Given the description of an element on the screen output the (x, y) to click on. 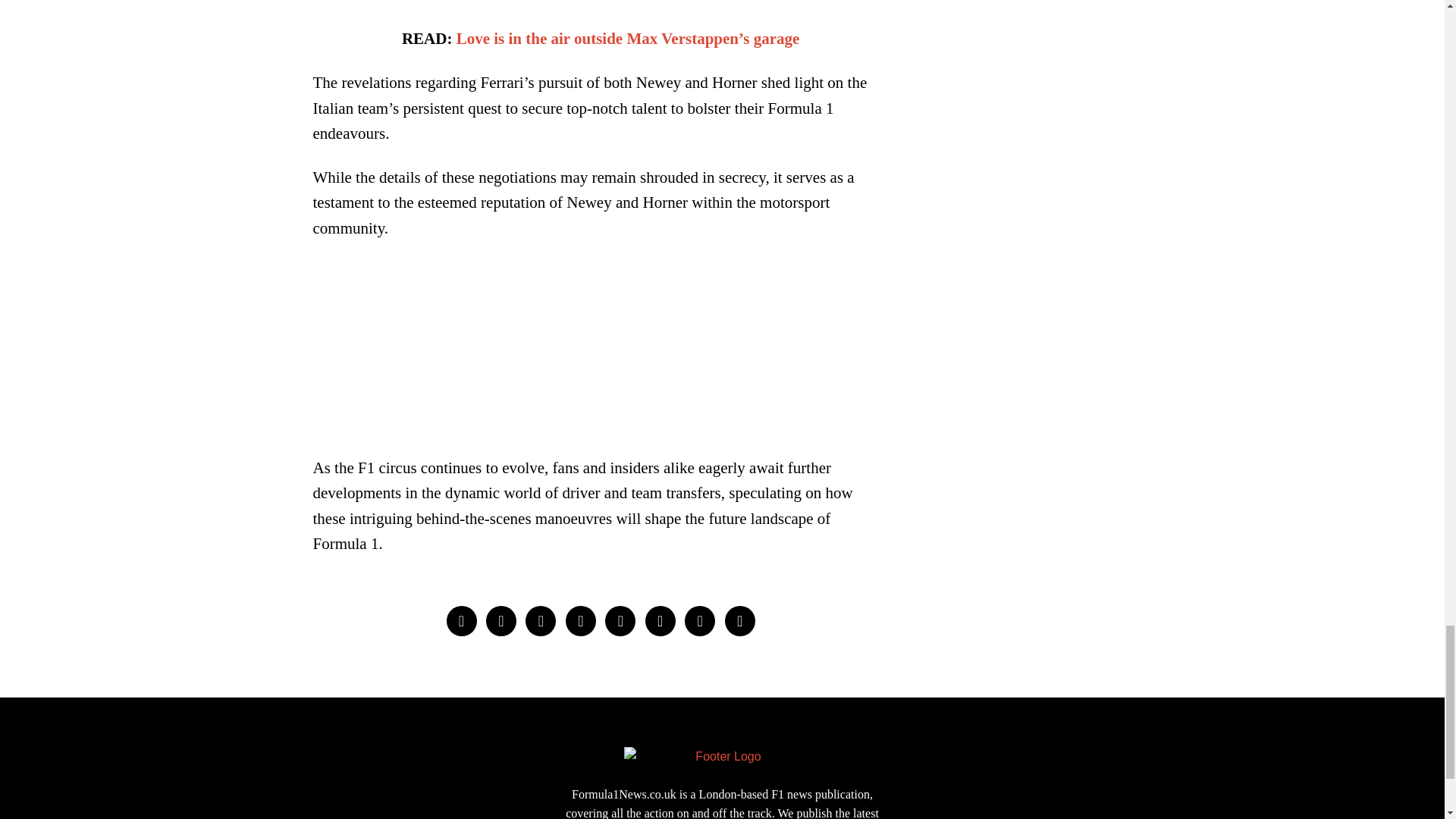
Whatsapp (660, 621)
Twitter (540, 621)
Facebook (460, 621)
Linkedin (619, 621)
Reddit (699, 621)
Email (740, 621)
Pinterest (580, 621)
Messenger (501, 621)
